Given the description of an element on the screen output the (x, y) to click on. 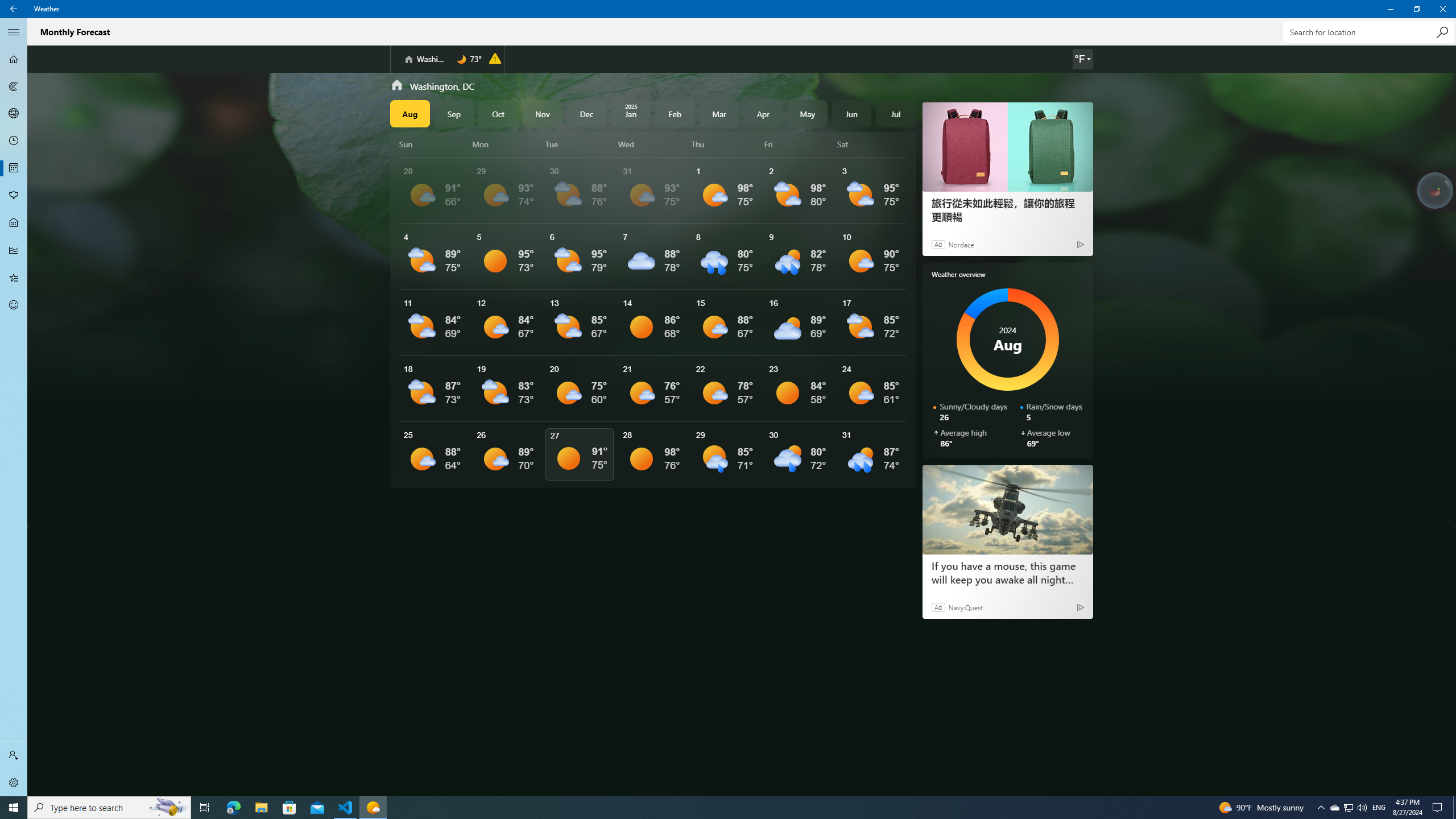
Send Feedback - Not Selected (13, 304)
Collapse Navigation (13, 31)
Monthly Forecast - Not Selected (13, 167)
